Given the description of an element on the screen output the (x, y) to click on. 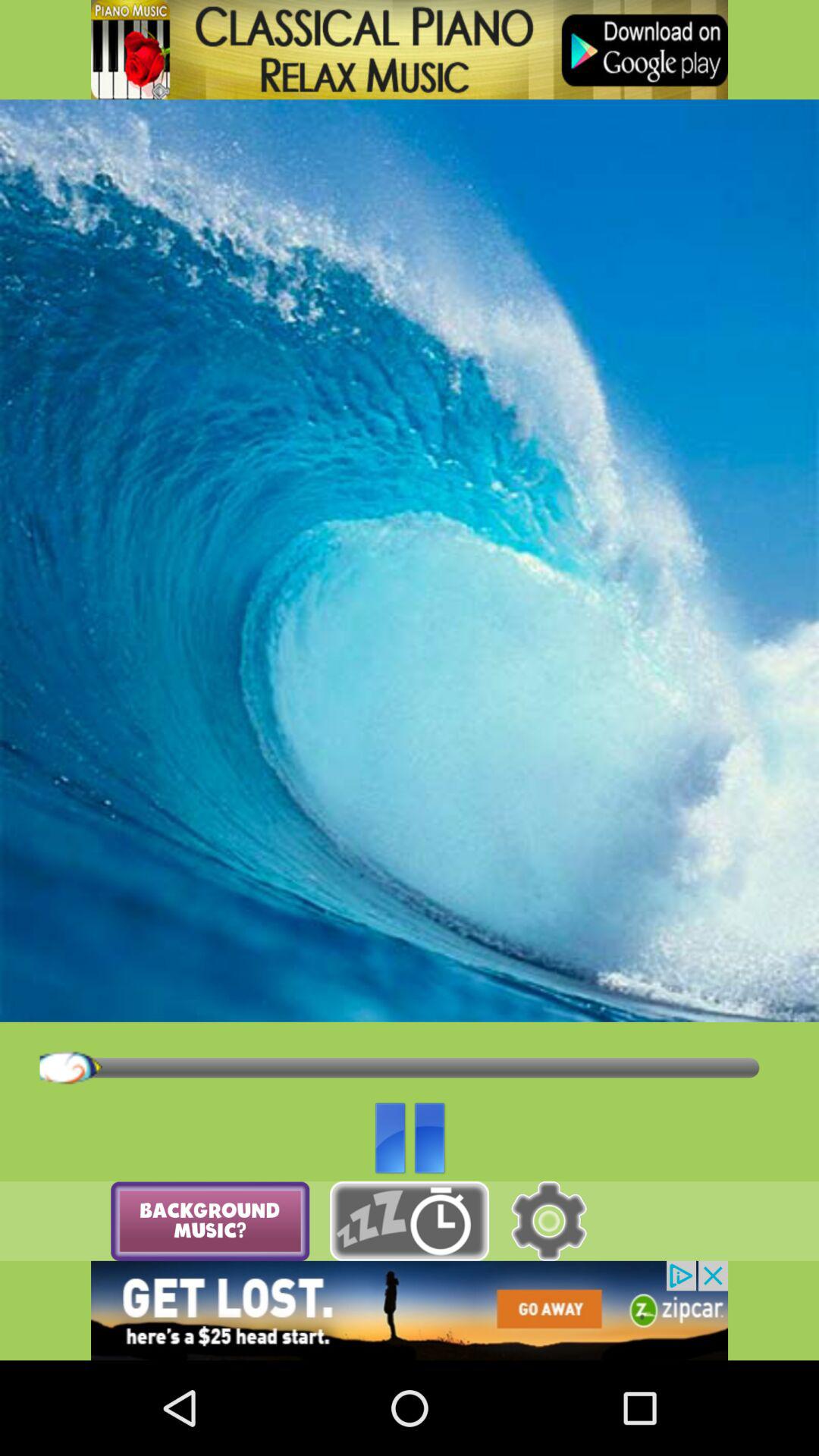
select setting option (548, 1220)
